Given the description of an element on the screen output the (x, y) to click on. 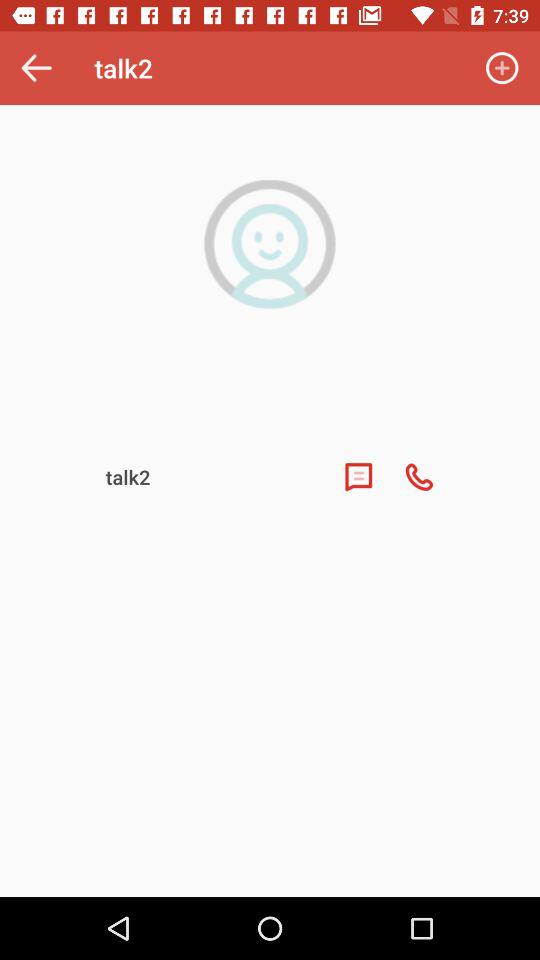
launch icon next to talk2 (502, 67)
